Given the description of an element on the screen output the (x, y) to click on. 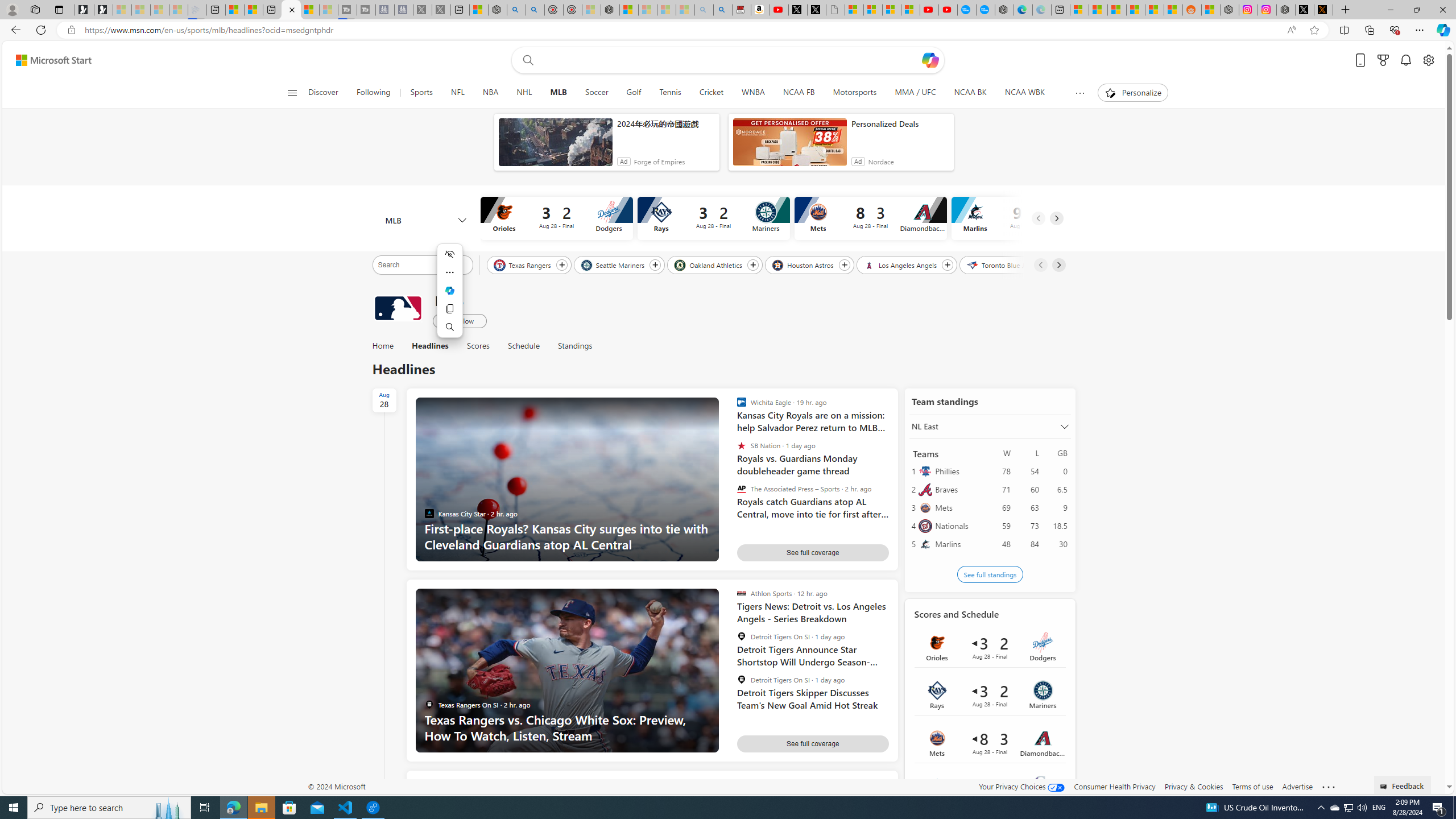
Class: oneFooter_seeMore-DS-EntryPoint1-1 (1328, 786)
Toronto Blue Jays (1000, 264)
Follow Los Angeles Angels (947, 265)
Houston Astros (803, 264)
Consumer Health Privacy (1115, 785)
MMA / UFC (914, 92)
Oakland Athletics (709, 264)
